Given the description of an element on the screen output the (x, y) to click on. 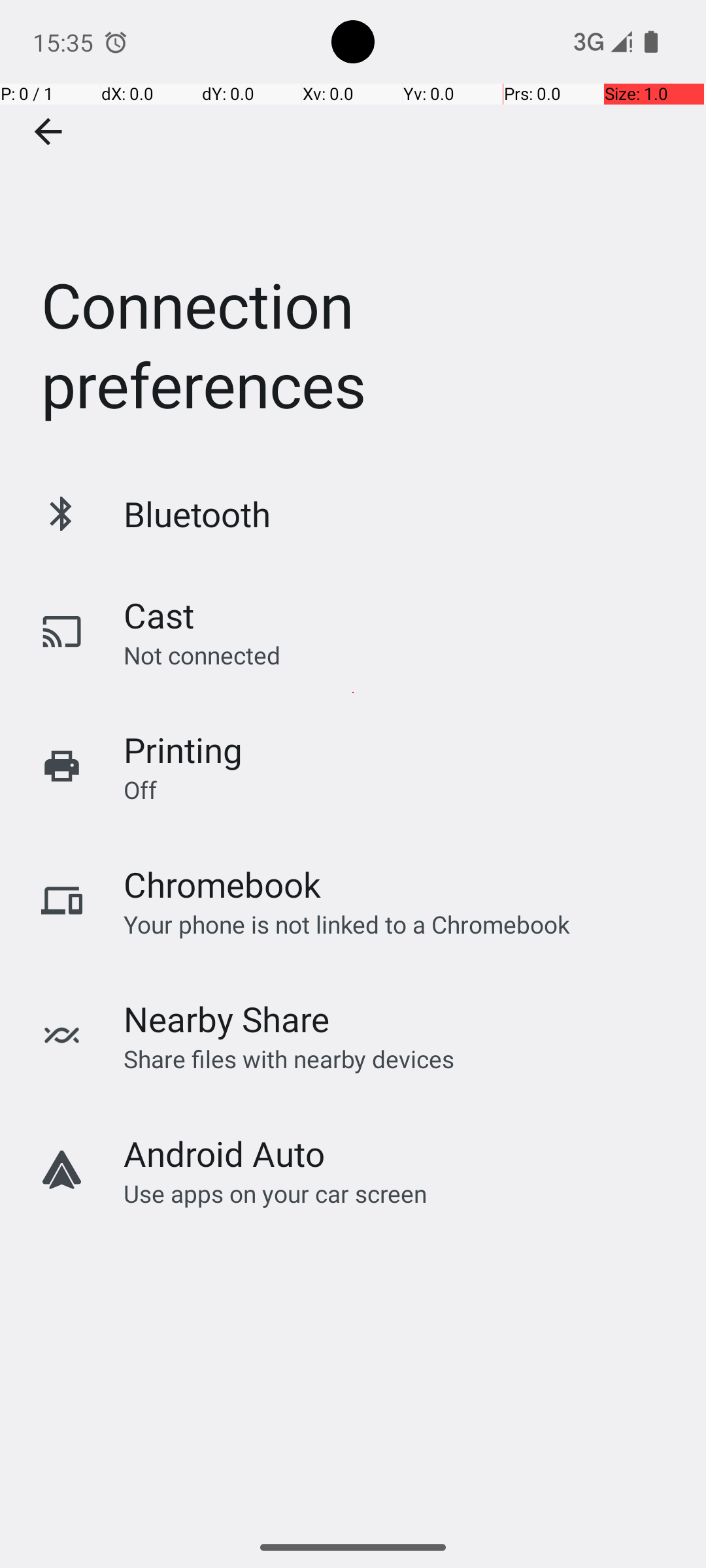
Cast Element type: android.widget.TextView (158, 614)
Not connected Element type: android.widget.TextView (201, 654)
Printing Element type: android.widget.TextView (182, 749)
Your phone is not linked to a Chromebook Element type: android.widget.TextView (346, 923)
Share files with nearby devices Element type: android.widget.TextView (288, 1058)
Use apps on your car screen Element type: android.widget.TextView (275, 1192)
